Given the description of an element on the screen output the (x, y) to click on. 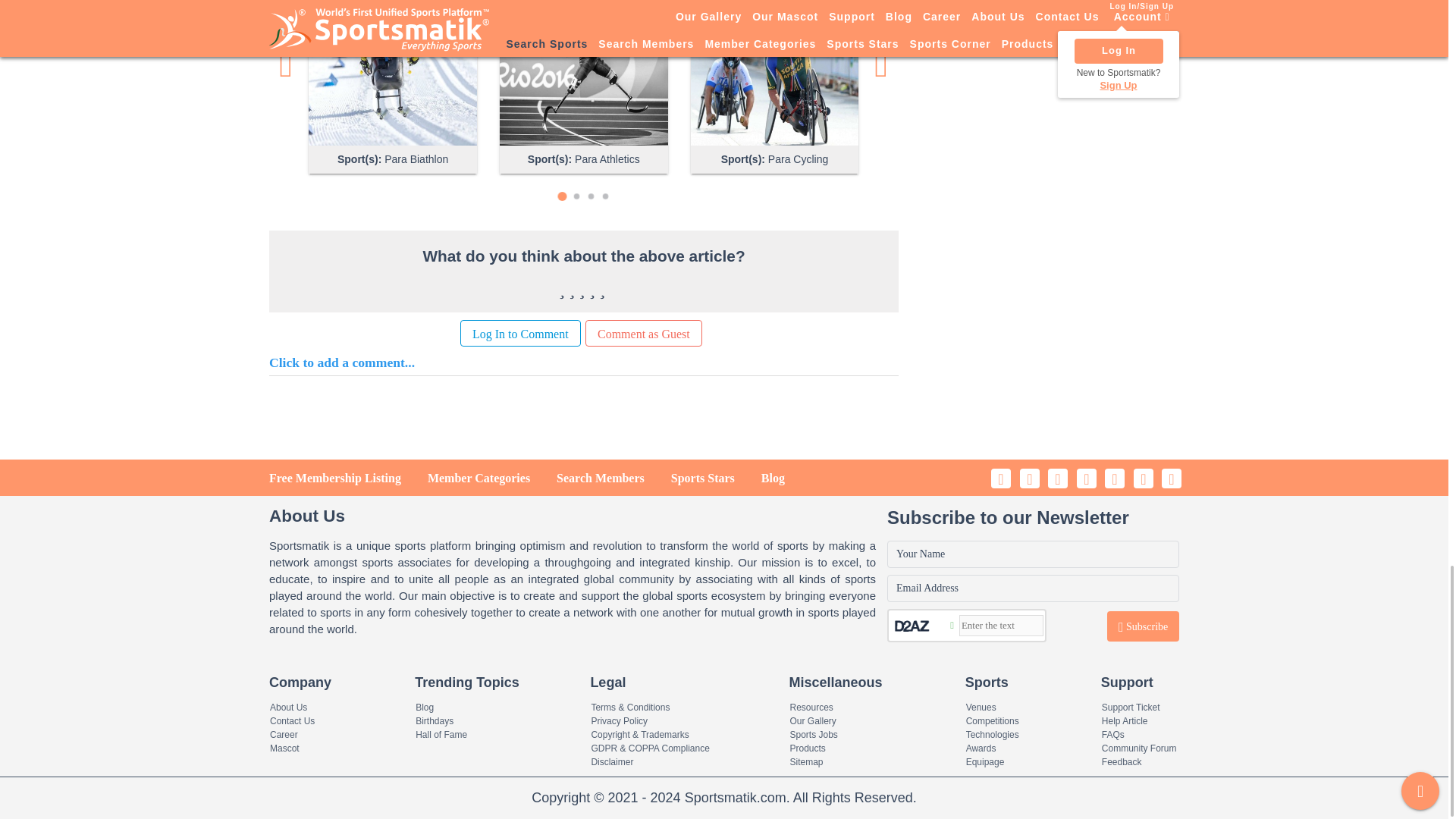
Comment as Guest (643, 333)
Log In to comment (520, 333)
